Given the description of an element on the screen output the (x, y) to click on. 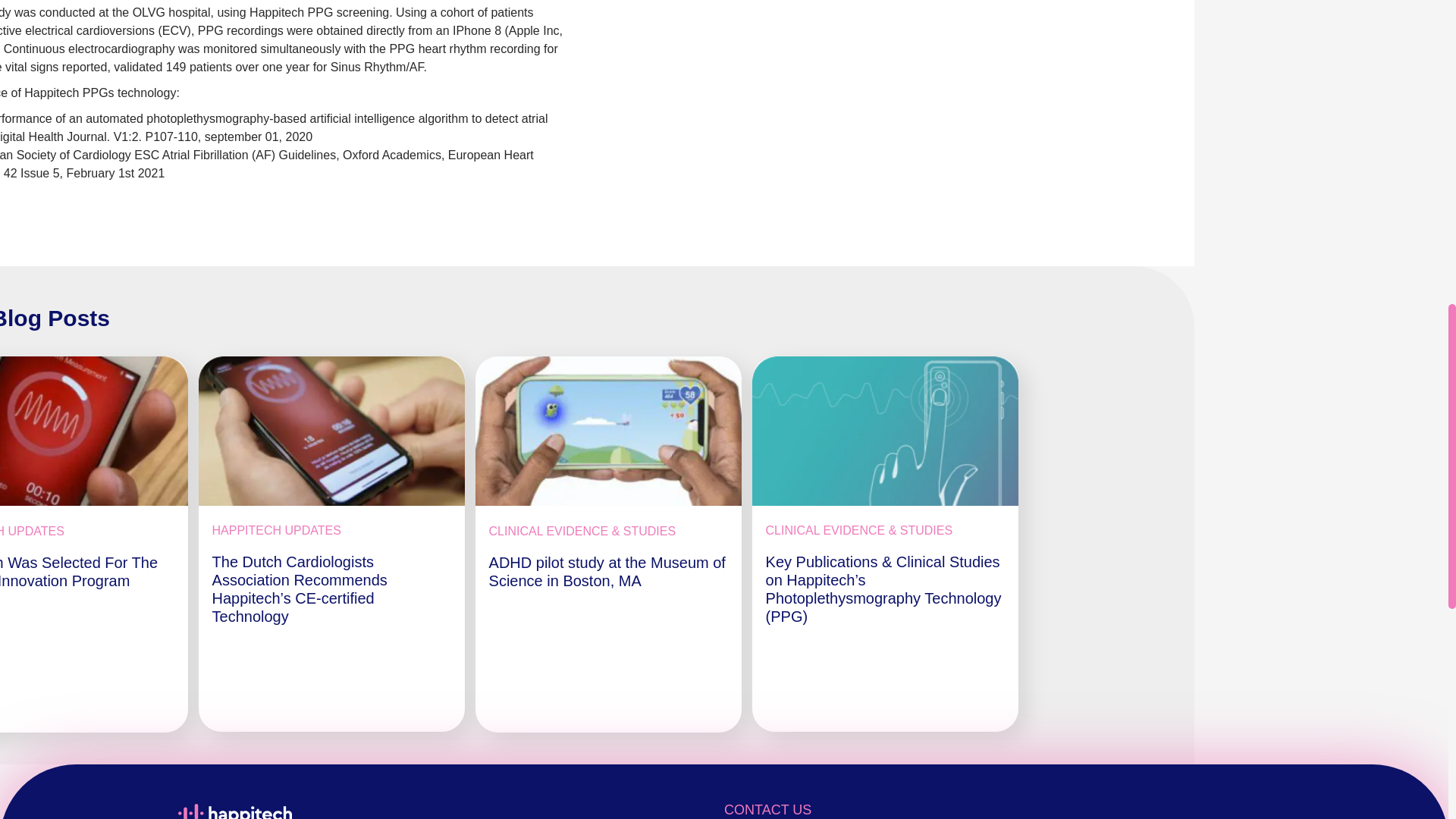
HAPPITECH UPDATES (32, 530)
